Given the description of an element on the screen output the (x, y) to click on. 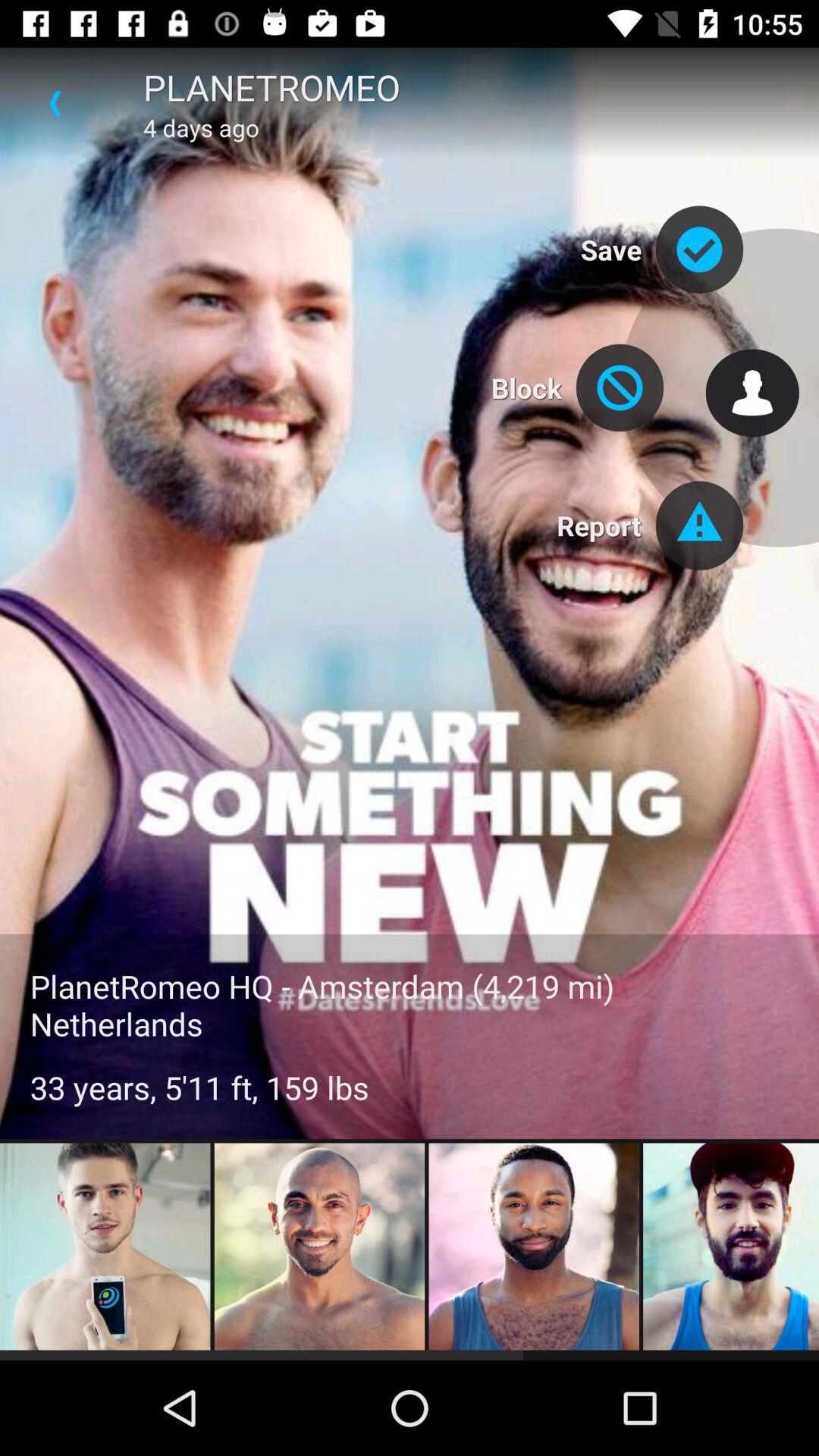
select the second image from the left side (319, 1248)
